Given the description of an element on the screen output the (x, y) to click on. 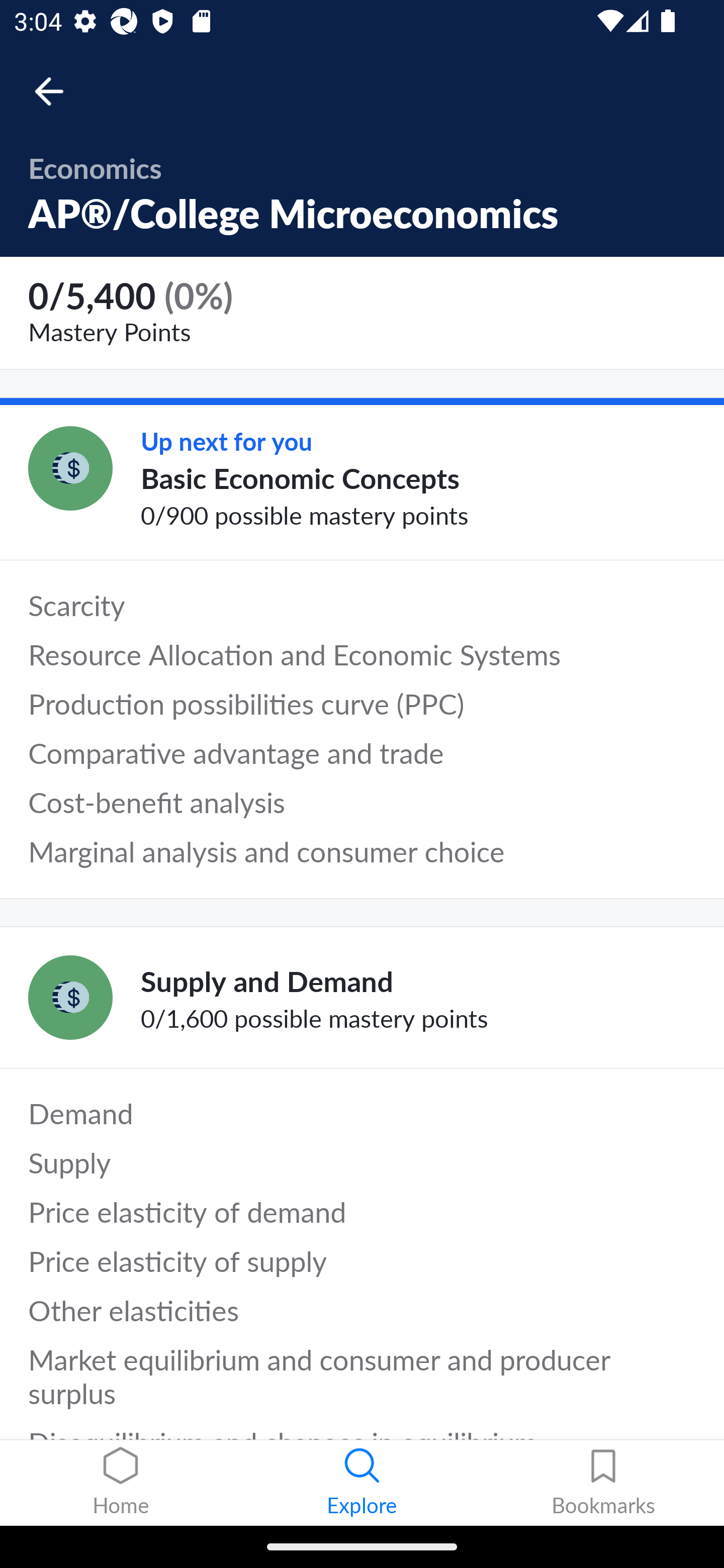
Back (58, 91)
Supply and Demand 0/1,600 possible mastery points (362, 996)
Home (120, 1482)
Explore (361, 1482)
Bookmarks (603, 1482)
